Given the description of an element on the screen output the (x, y) to click on. 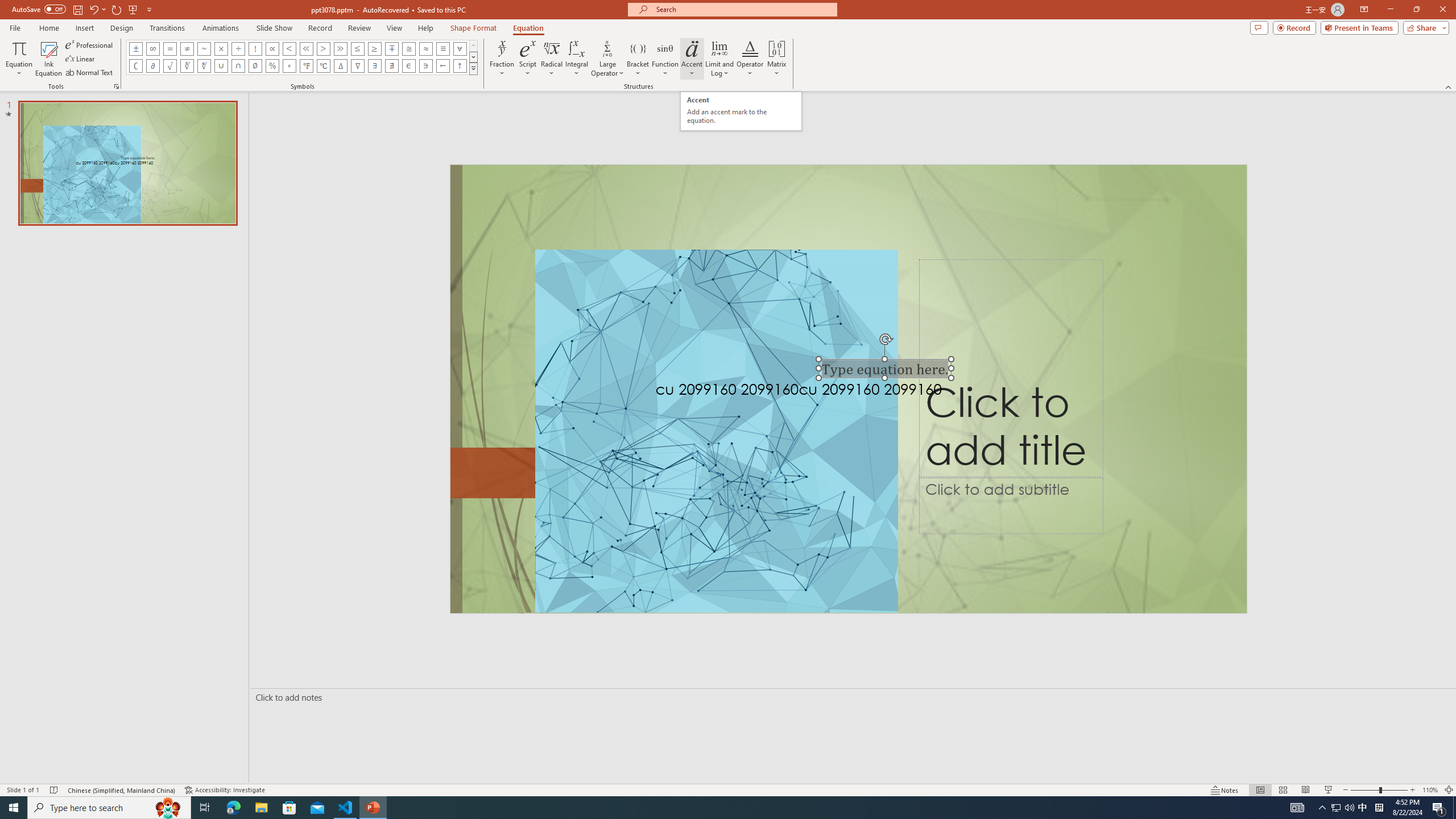
Equation Symbol Minus Plus (391, 48)
Equation Symbol Proportional To (272, 48)
Equation (528, 28)
Bracket (638, 58)
Equation Symbols (472, 68)
Equation Symbol Nabla (357, 65)
Equation Symbol Less Than (289, 48)
Linear (81, 58)
Function (664, 58)
